Given the description of an element on the screen output the (x, y) to click on. 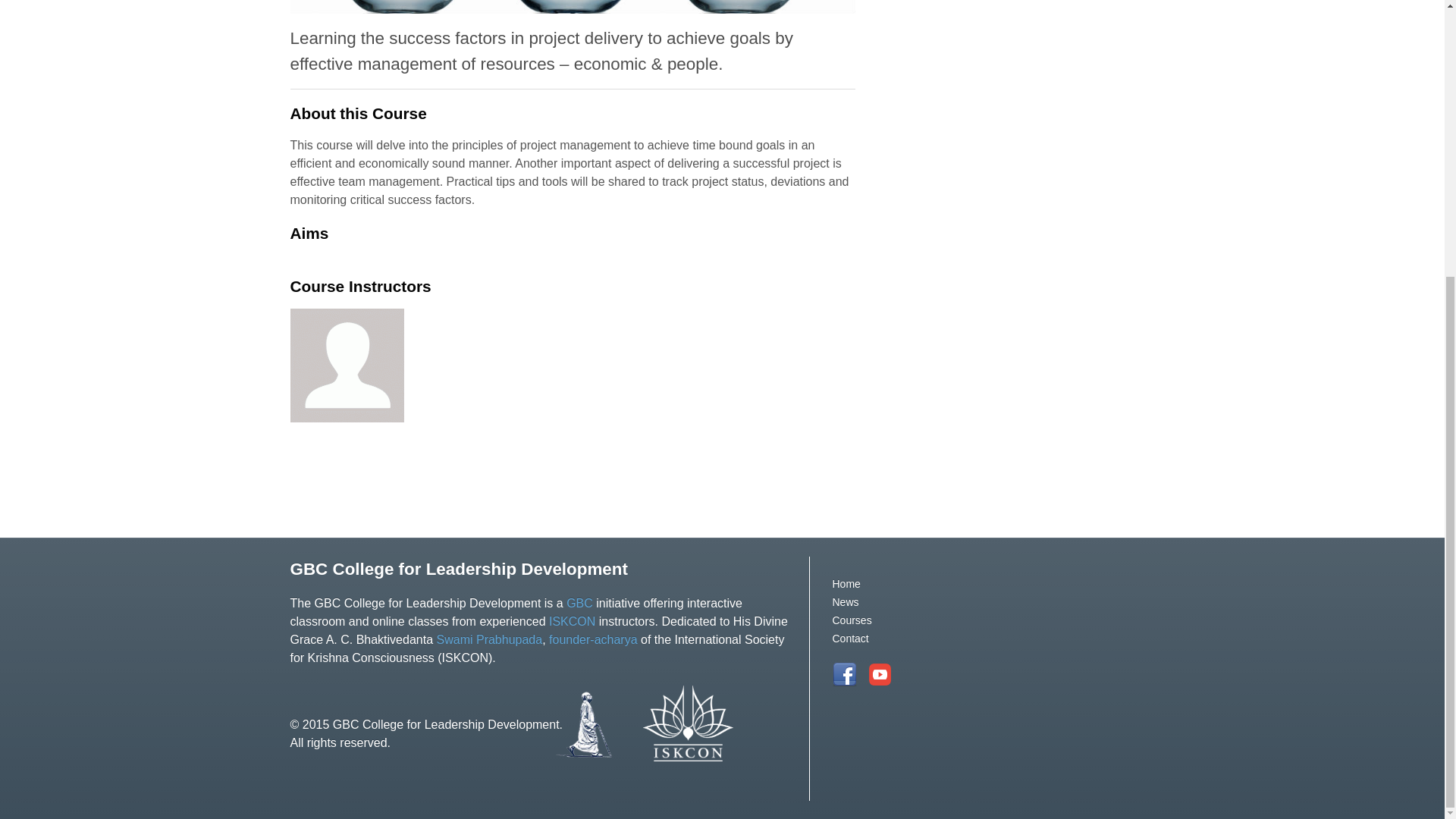
Swami Prabhupada (489, 639)
Contact (850, 638)
News (845, 602)
GBC (579, 603)
Home (846, 583)
founder-acharya (592, 639)
ISKCON (573, 621)
Courses (852, 620)
